Given the description of an element on the screen output the (x, y) to click on. 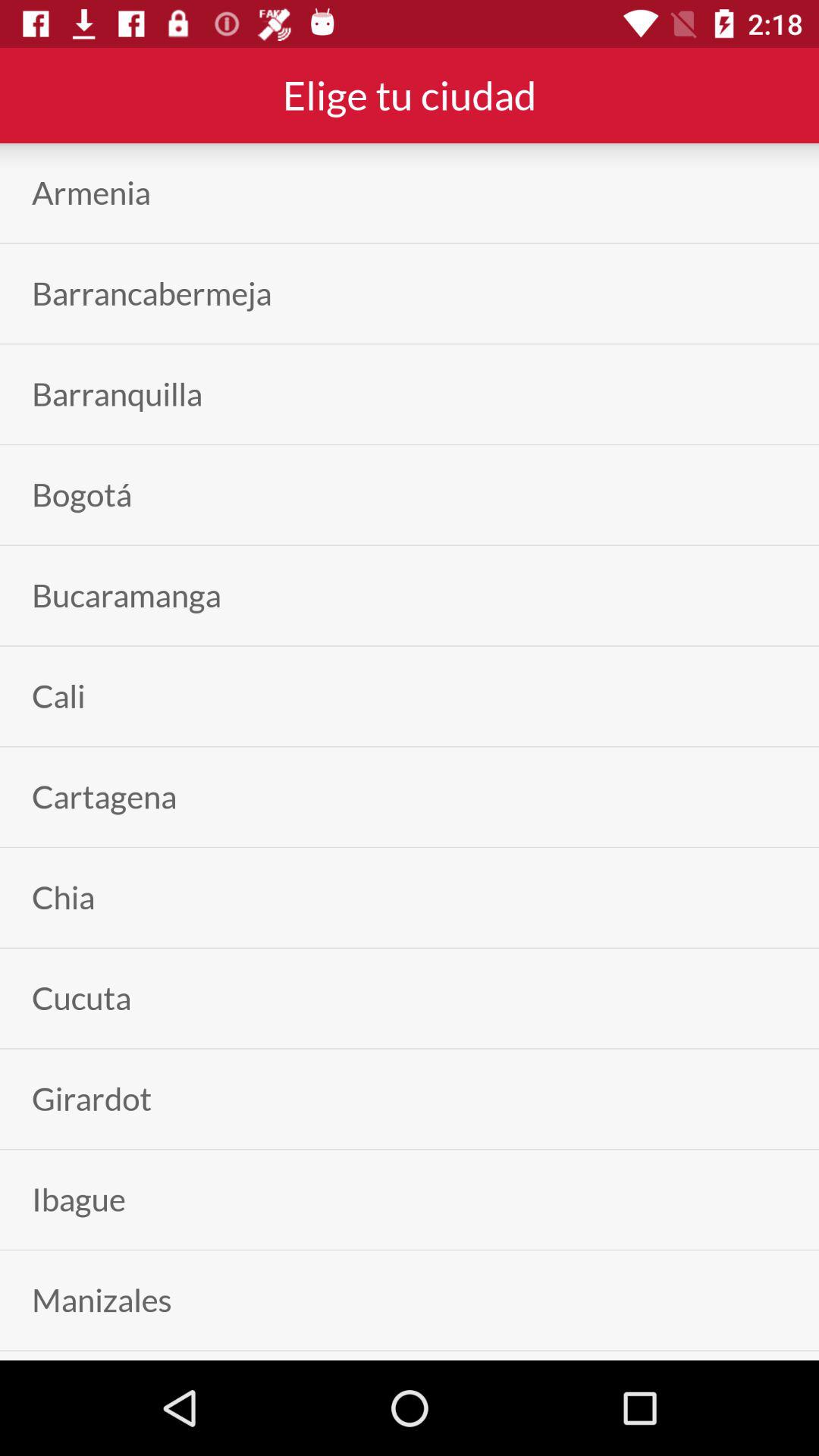
swipe until ibague item (78, 1199)
